Given the description of an element on the screen output the (x, y) to click on. 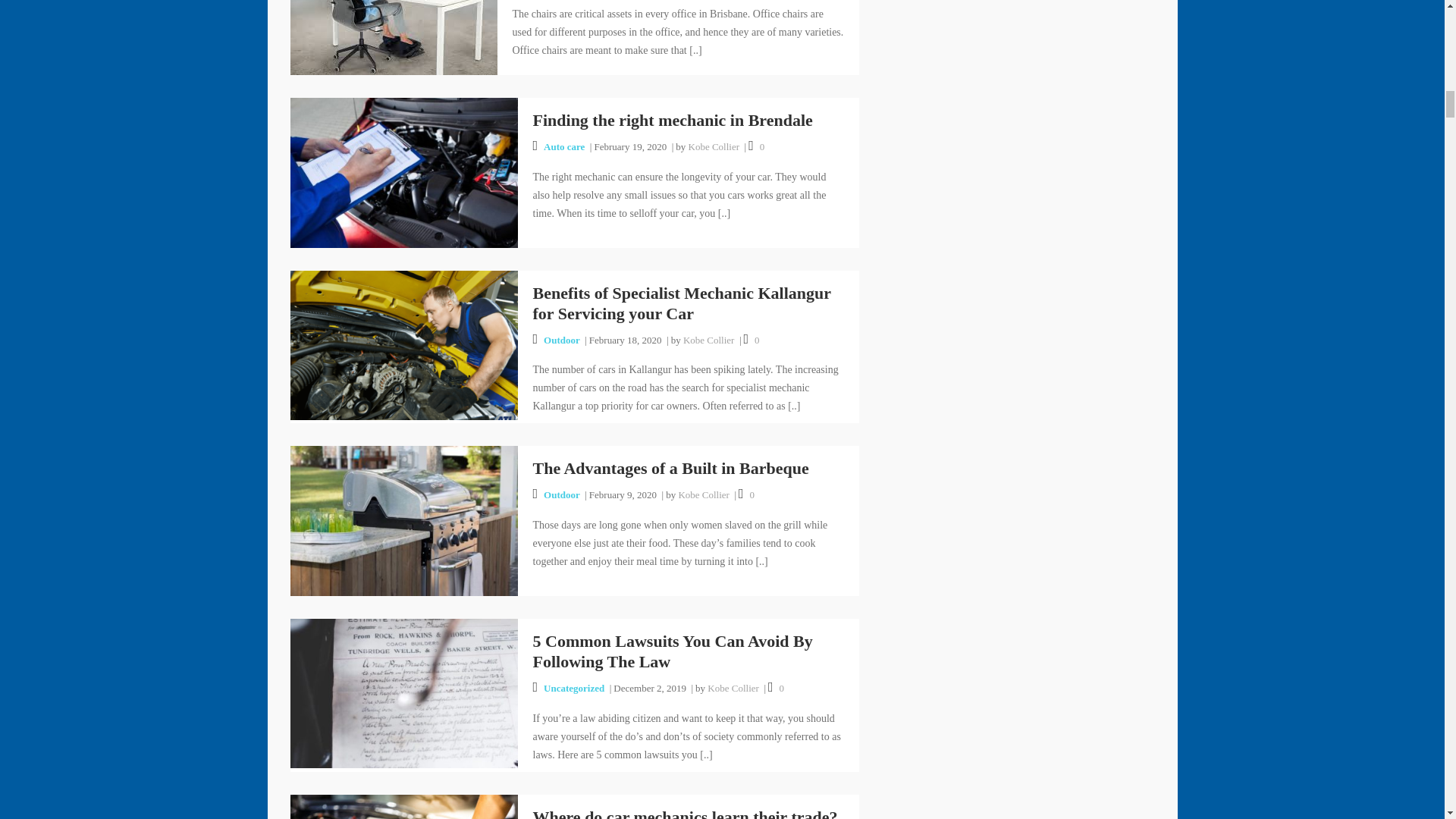
5 Common Lawsuits You Can Avoid By Following The Law (402, 692)
Finding the right mechanic in Brendale (402, 171)
The Advantages of a Built in Barbeque (402, 519)
How to buy the office chairs in Brisbane (392, 4)
